Given the description of an element on the screen output the (x, y) to click on. 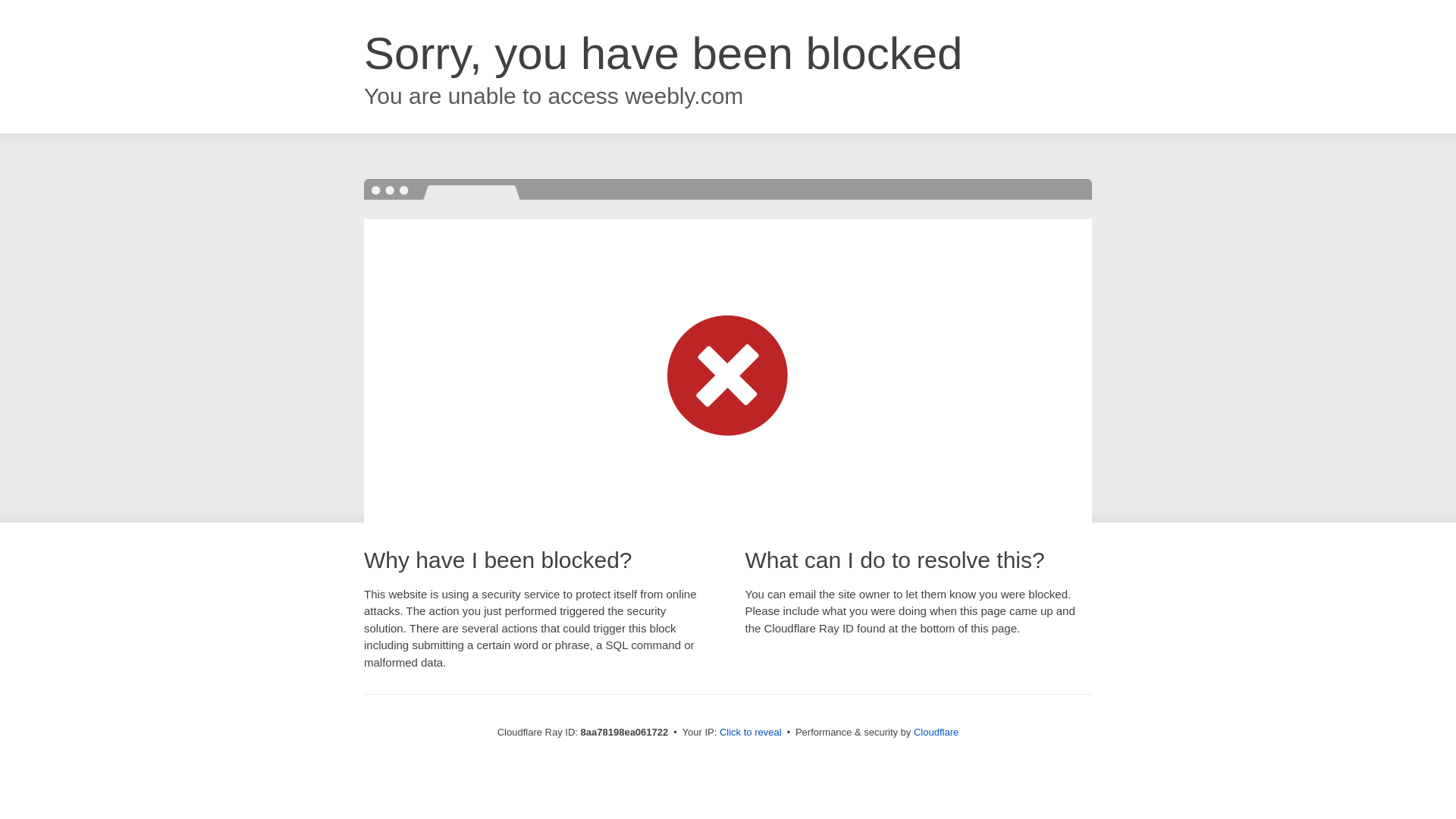
Cloudflare (936, 731)
Click to reveal (750, 732)
